Given the description of an element on the screen output the (x, y) to click on. 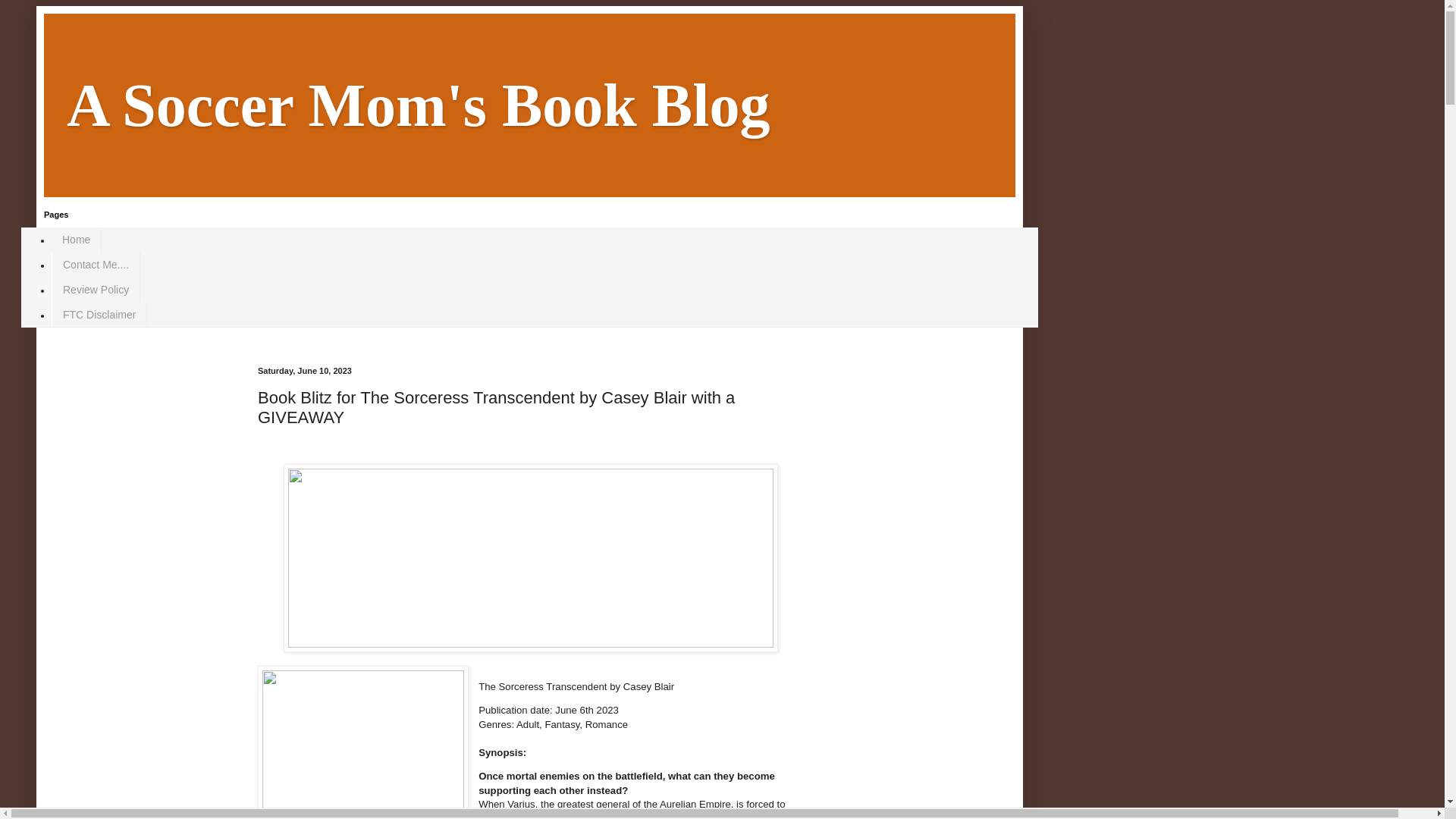
Contact Me.... (94, 264)
FTC Disclaimer (98, 314)
Home (75, 239)
Review Policy (94, 289)
A Soccer Mom's Book Blog (418, 105)
